Given the description of an element on the screen output the (x, y) to click on. 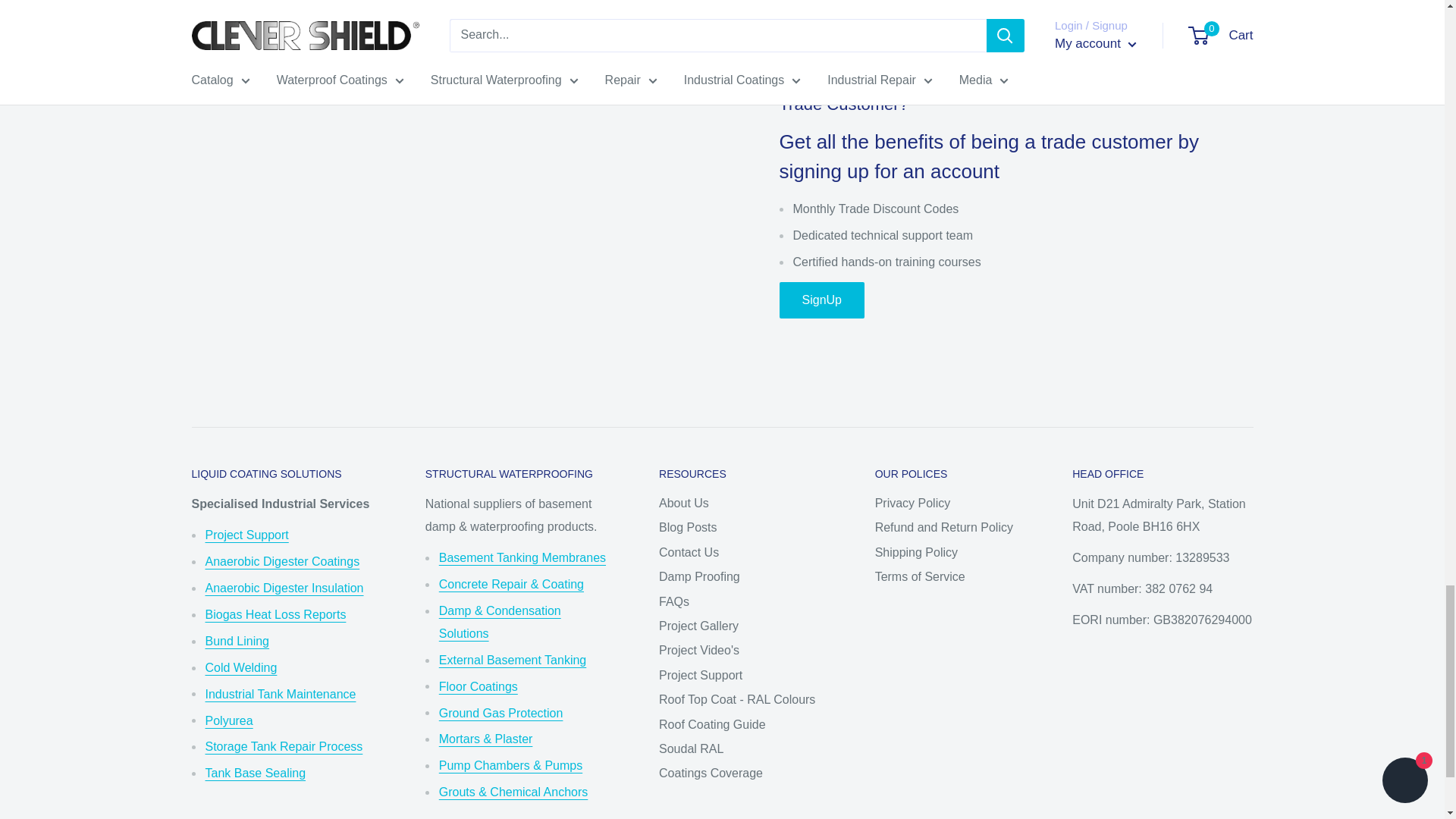
Mortars and Plasters (485, 738)
Cementitious Waterproofers and Additives (511, 584)
Gas Barrier Membranes (501, 712)
Cavity Drain Membranes (522, 557)
Floor Coating Systems (478, 686)
Damp Proofing (499, 621)
External Type A Waterproofing (512, 659)
Application (246, 534)
Basement and Cellars Pump, Chambers and Alarms (510, 765)
